Given the description of an element on the screen output the (x, y) to click on. 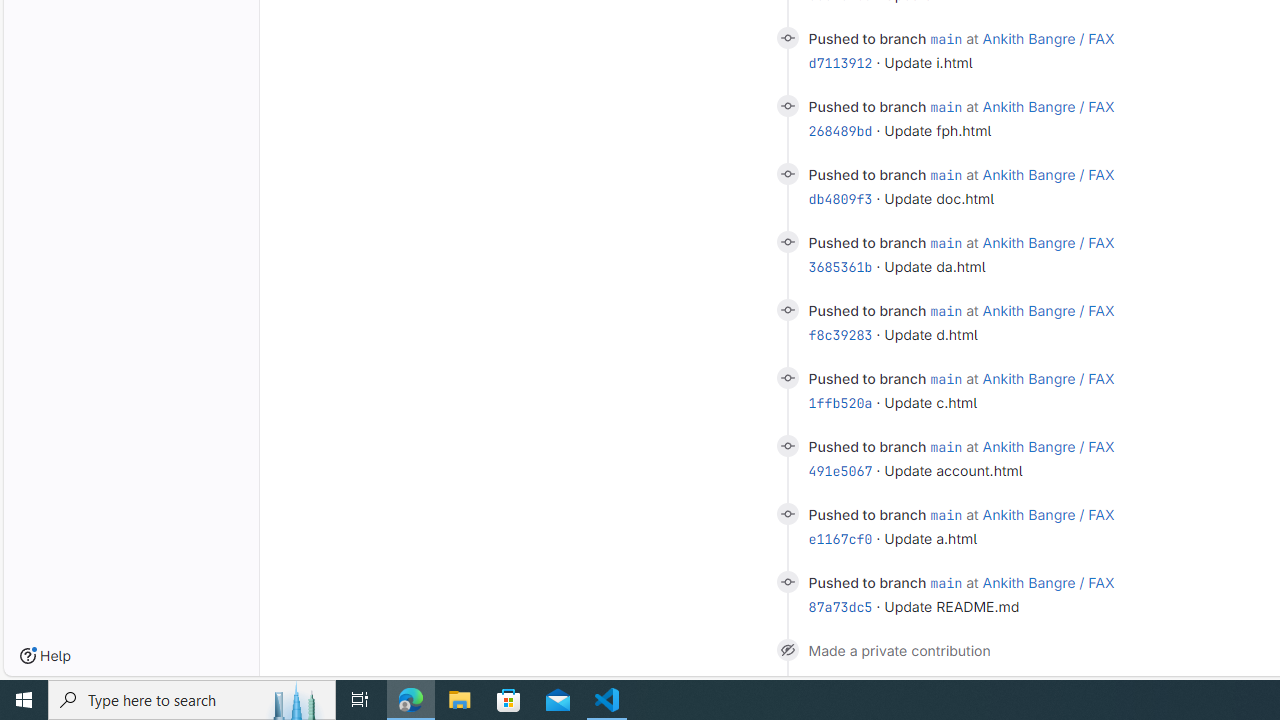
3685361b (839, 266)
1ffb520a (839, 402)
d7113912 (839, 63)
db4809f3 (839, 199)
268489bd (839, 130)
Help (45, 655)
491e5067 (839, 471)
main (946, 582)
Class: s14 (786, 581)
Class: s14 icon (786, 649)
e1167cf0 (839, 538)
87a73dc5 (839, 607)
Ankith Bangre / FAX (1047, 582)
f8c39283 (839, 335)
